Given the description of an element on the screen output the (x, y) to click on. 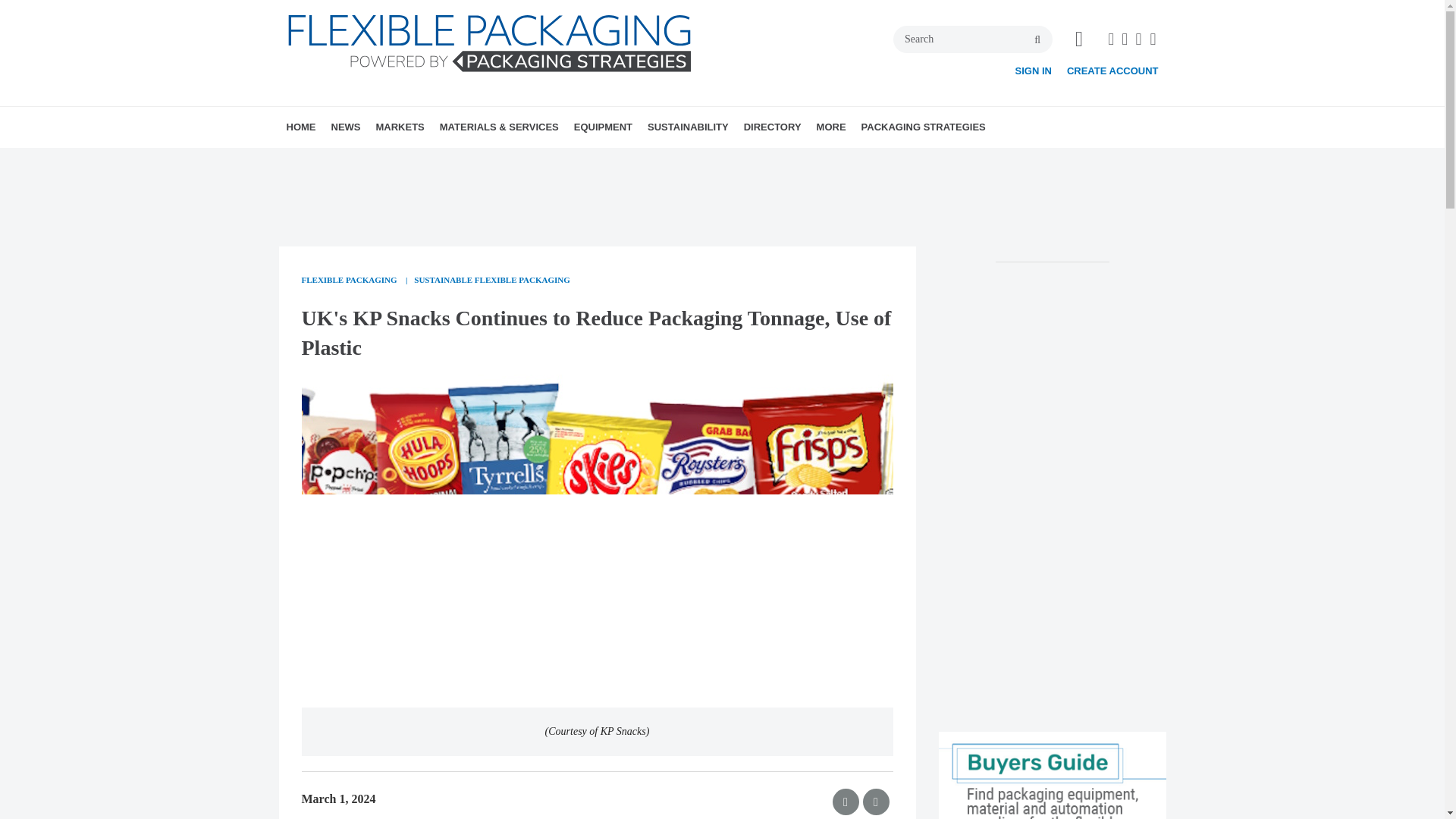
GLOBAL POUCH FORUM (903, 160)
Search (972, 39)
TOP 25 CONVERTERS (910, 160)
MORE (831, 127)
SUSTAINABILITY (688, 127)
SIGN IN (1032, 70)
SUSTAINABLE FLEXIBLE PACKAGING (491, 280)
HOME (301, 127)
FLEXIBLE PACKAGING STORE (927, 160)
DIRECTORY (772, 127)
